Given the description of an element on the screen output the (x, y) to click on. 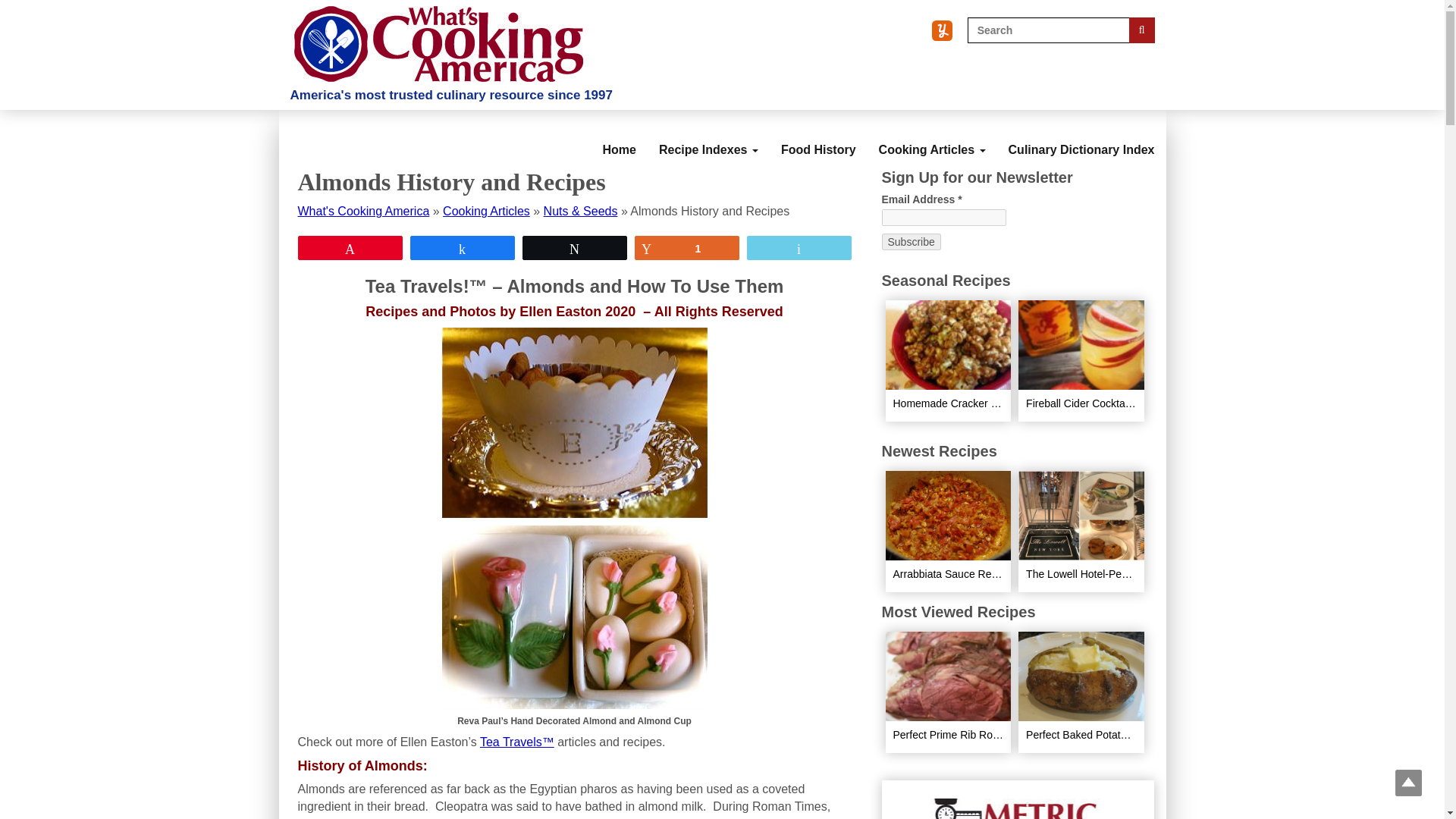
Cooking Articles (932, 136)
Subscribe (910, 241)
1 (686, 247)
Recipe Indexes (708, 136)
What's Cooking America (363, 210)
Cooking Articles (485, 210)
Scroll to Top (1408, 782)
Follow us on Yummly (941, 30)
Culinary Dictionary Index (1081, 136)
Food History (818, 136)
